Given the description of an element on the screen output the (x, y) to click on. 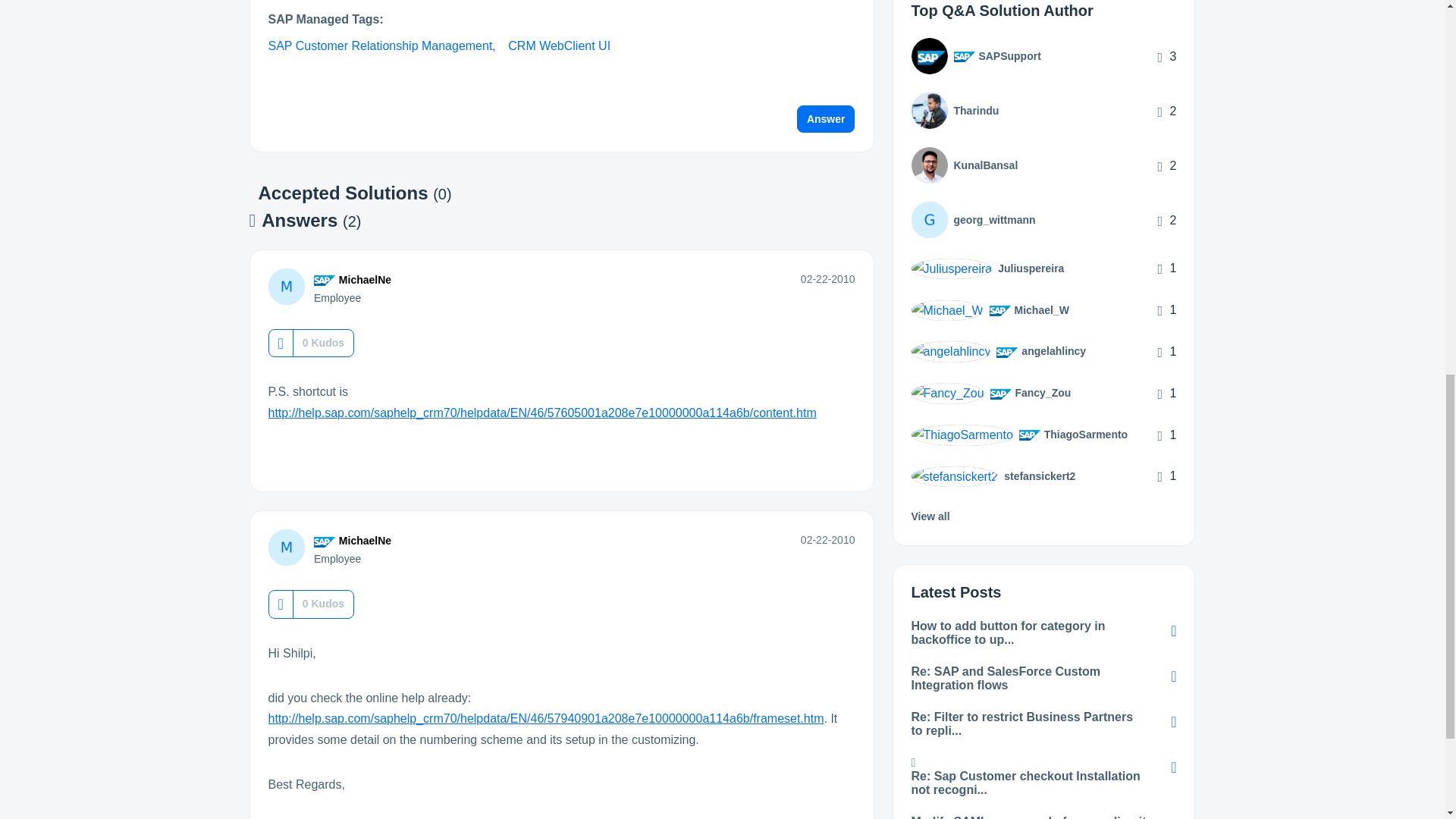
CRM WebClient UI (559, 45)
SAP Customer Relationship Management (380, 45)
Answer (826, 118)
MichaelNe (365, 279)
Employee (325, 280)
MichaelNe (285, 286)
